Given the description of an element on the screen output the (x, y) to click on. 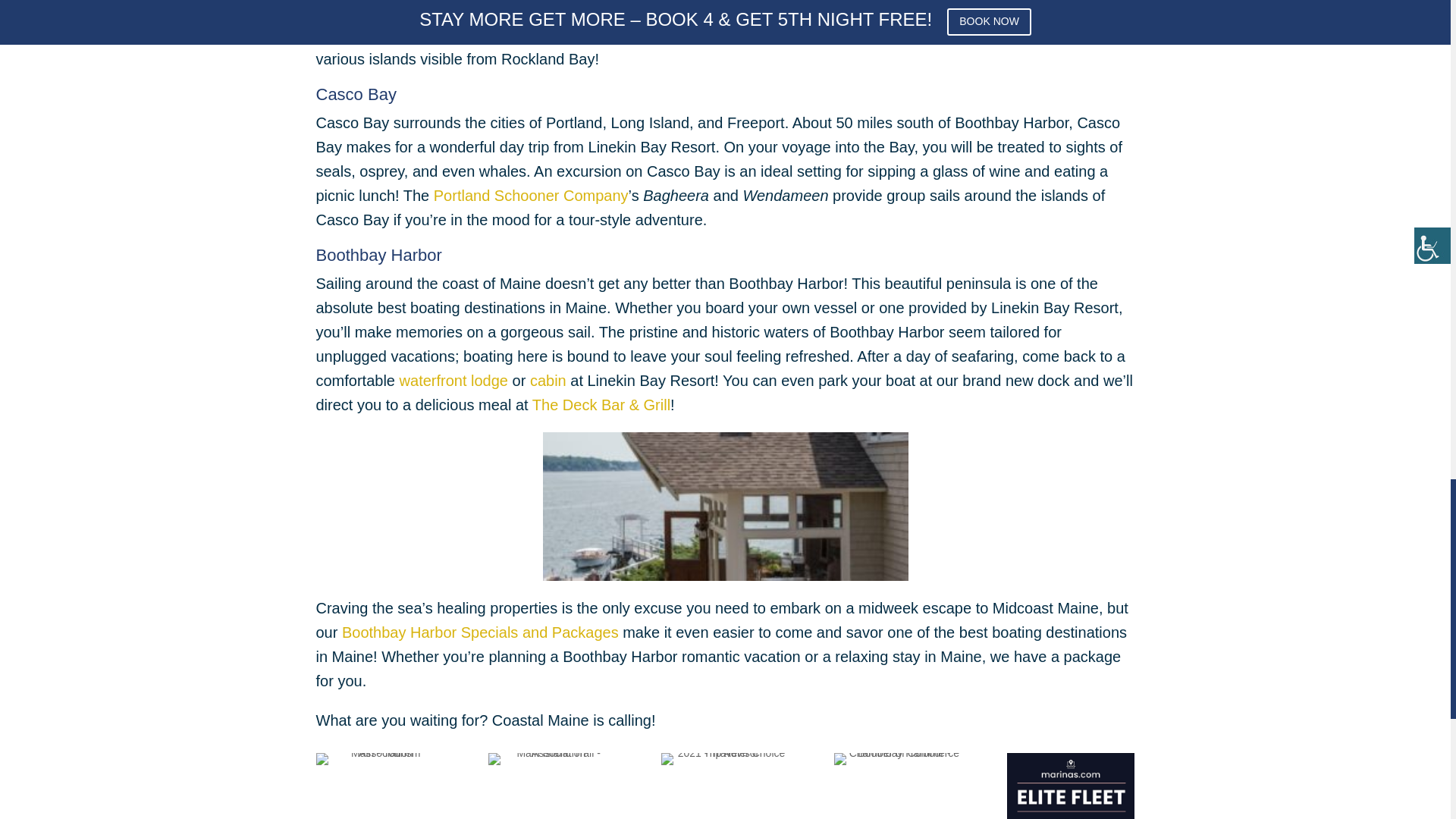
logo4 (897, 758)
EF22 (1070, 785)
Bufflehead Sailing Charters (926, 10)
waterfront lodge (453, 380)
logo2 (551, 758)
Portland Schooner Company (530, 195)
logo3 (725, 758)
logo1 (379, 758)
